Given the description of an element on the screen output the (x, y) to click on. 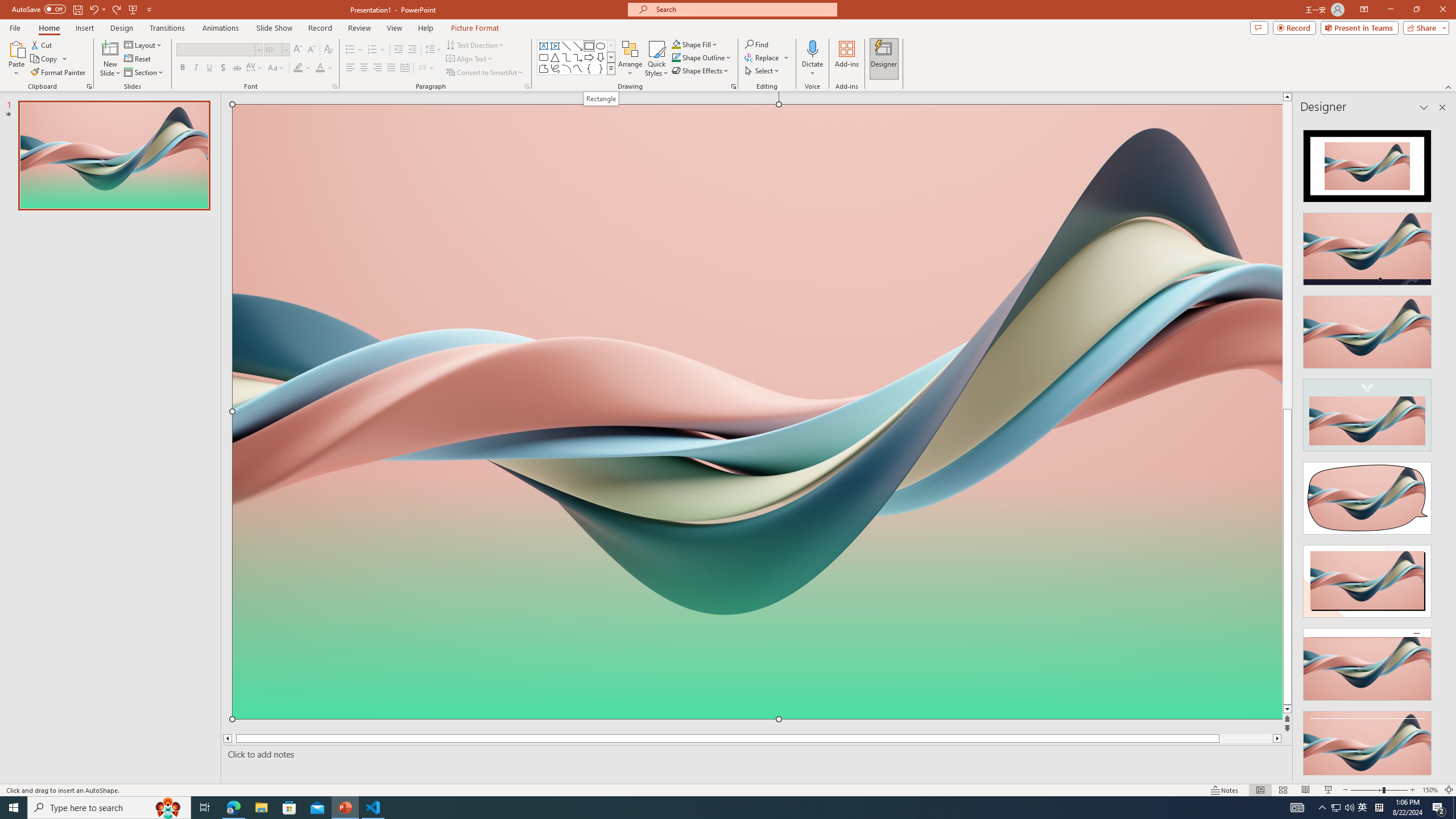
Design Idea (1366, 743)
Recommended Design: Design Idea (1366, 162)
